Given the description of an element on the screen output the (x, y) to click on. 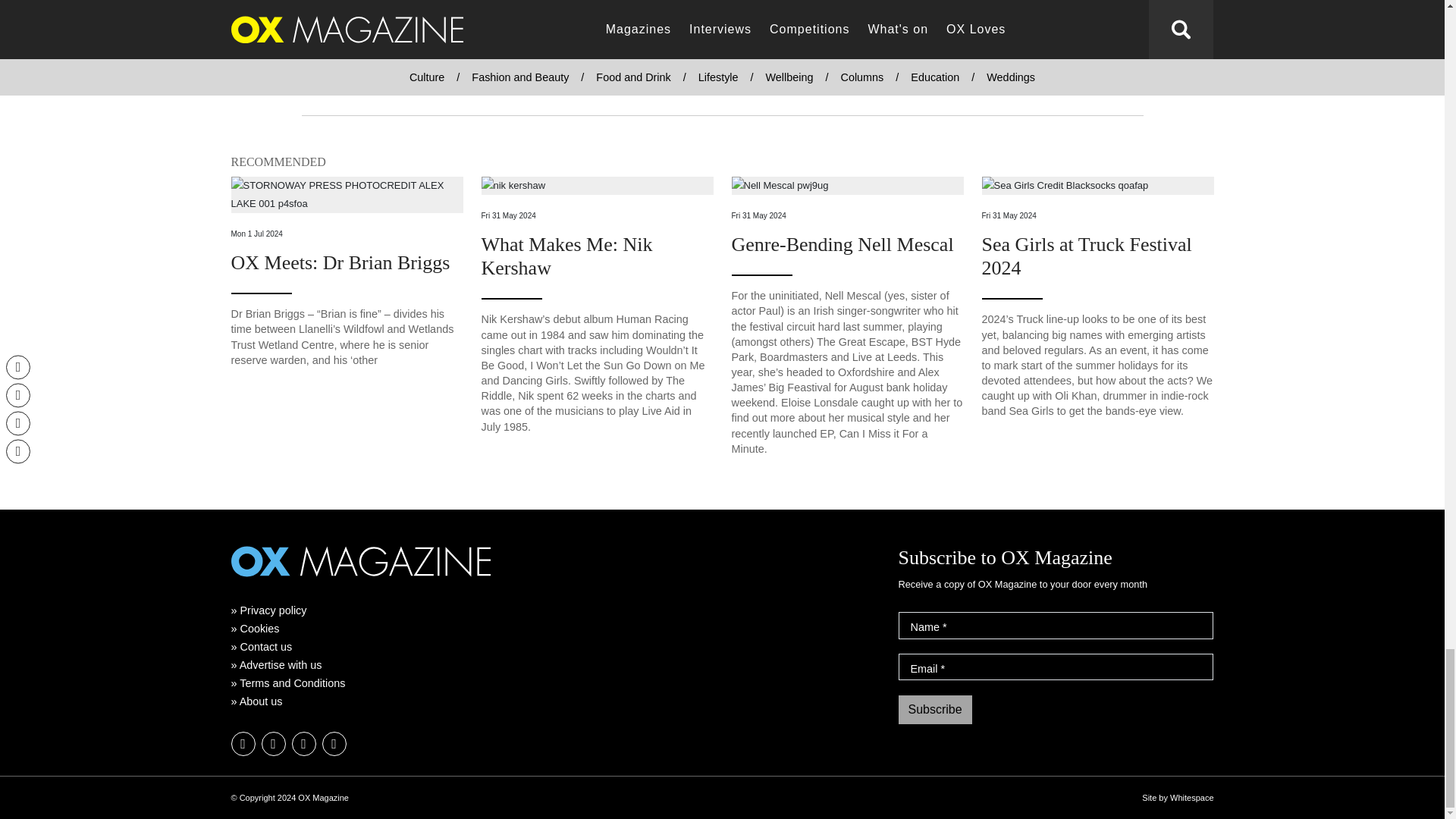
This field is required (944, 626)
This field is required (942, 668)
Creation Theatre Creating Christmas Magic  (318, 14)
